Given the description of an element on the screen output the (x, y) to click on. 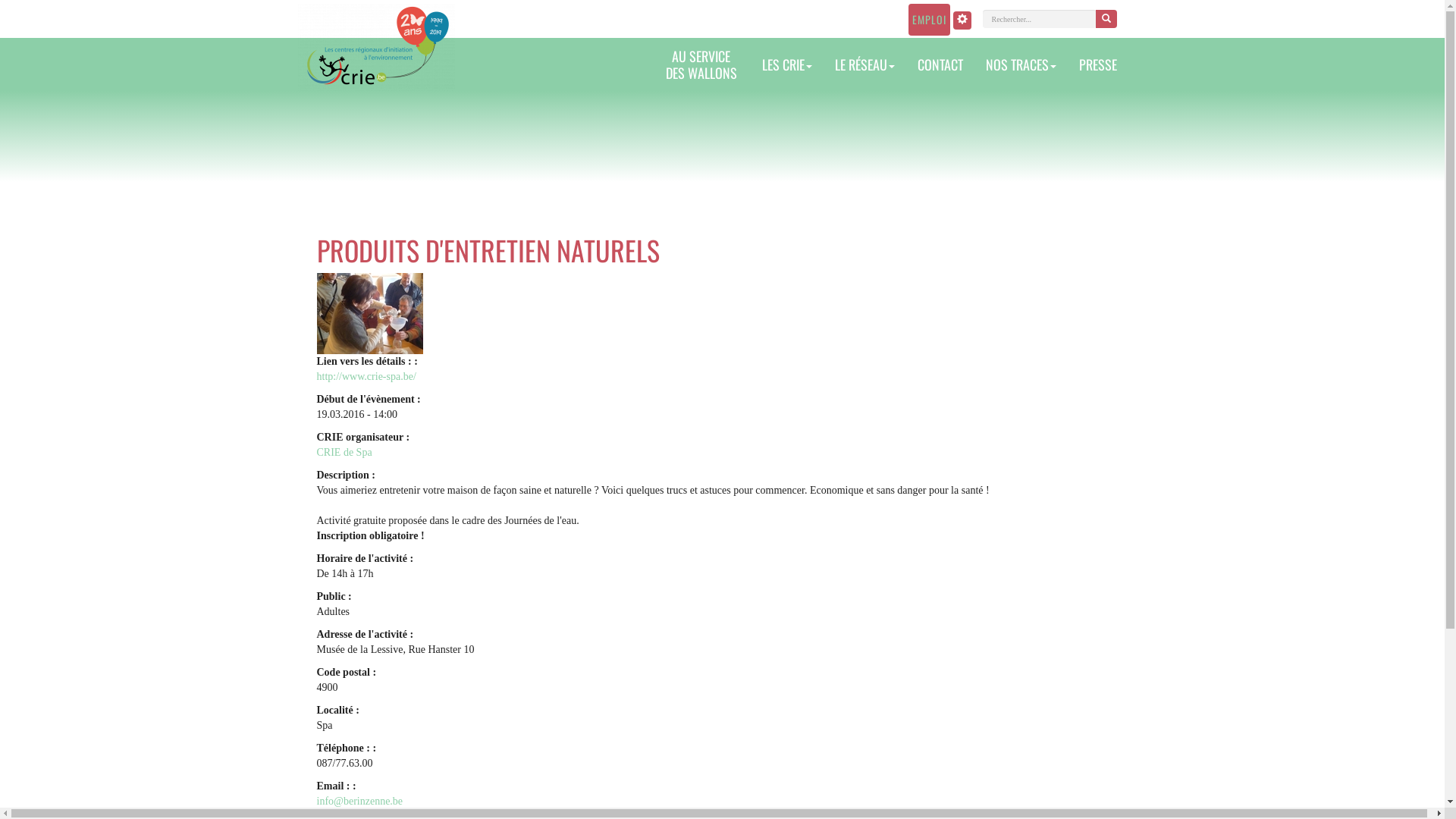
Rechercher les pages comportant ce texte. Element type: hover (1105, 18)
CONTACT Element type: text (939, 64)
PRESSE Element type: text (1097, 64)
AU SERVICE DES WALLONS Element type: text (701, 64)
http://www.crie-spa.be/ Element type: text (366, 376)
bf_imageagenda_fete_crie_250px.jpg Element type: hover (369, 311)
info@berinzenne.be Element type: text (359, 800)
EMPLOI Element type: text (929, 19)
Rechercher dans YesWiki [alt-shift-C] Element type: hover (1039, 18)
NOS TRACES Element type: text (1019, 64)
CRIE de Spa Element type: text (344, 452)
LES CRIE Element type: text (786, 64)
